Given the description of an element on the screen output the (x, y) to click on. 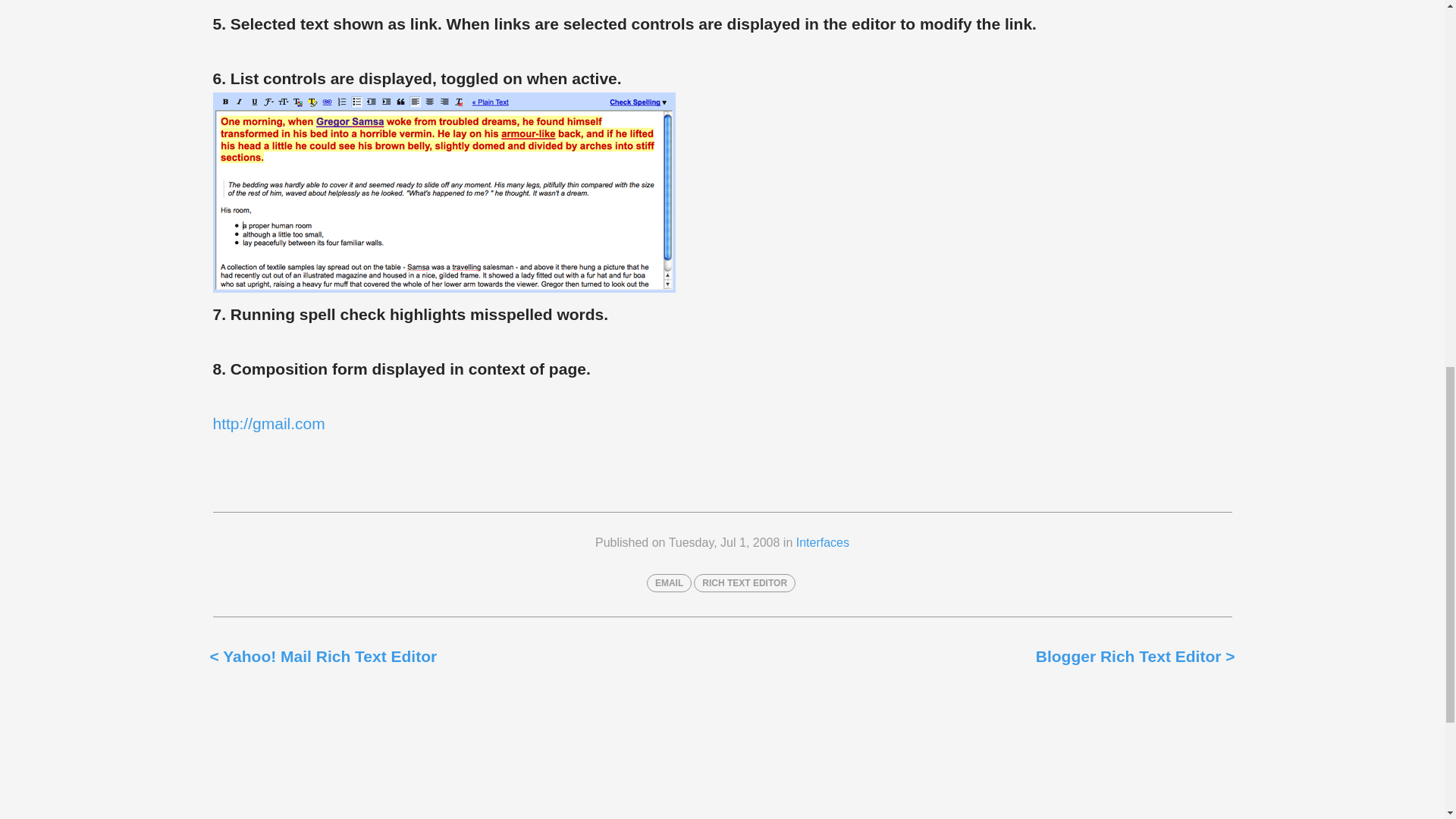
EMAIL (668, 583)
RICH TEXT EDITOR (744, 583)
Interfaces (822, 541)
6. List controls are displayed, toggled on when active. (443, 286)
Yahoo! Mail Rich Text Editor (322, 655)
Blogger Rich Text Editor  (1134, 655)
